Given the description of an element on the screen output the (x, y) to click on. 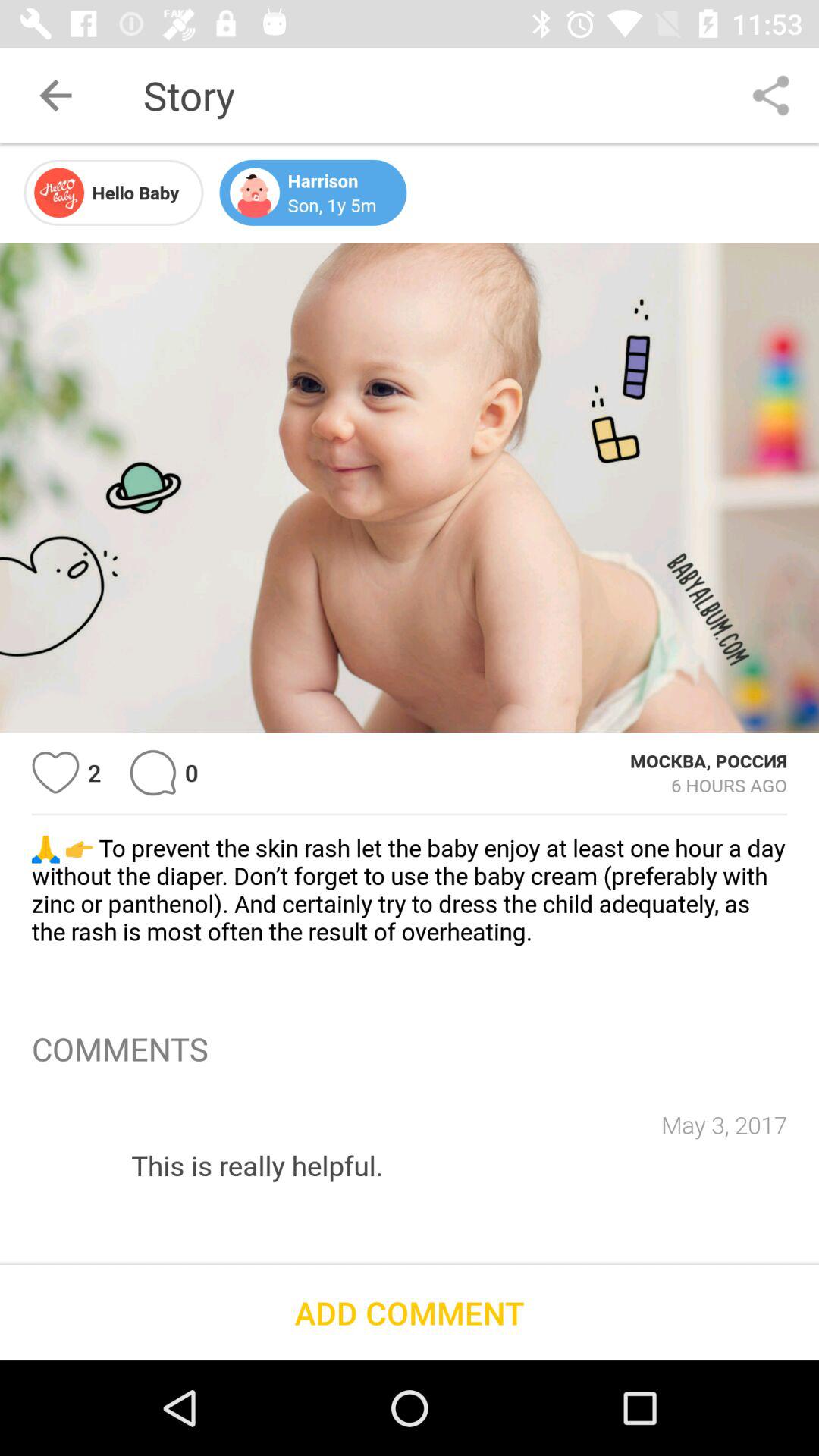
click on like button (55, 772)
select the image which is left to text harrison (255, 191)
select share icon on top right side of the page (771, 95)
